Given the description of an element on the screen output the (x, y) to click on. 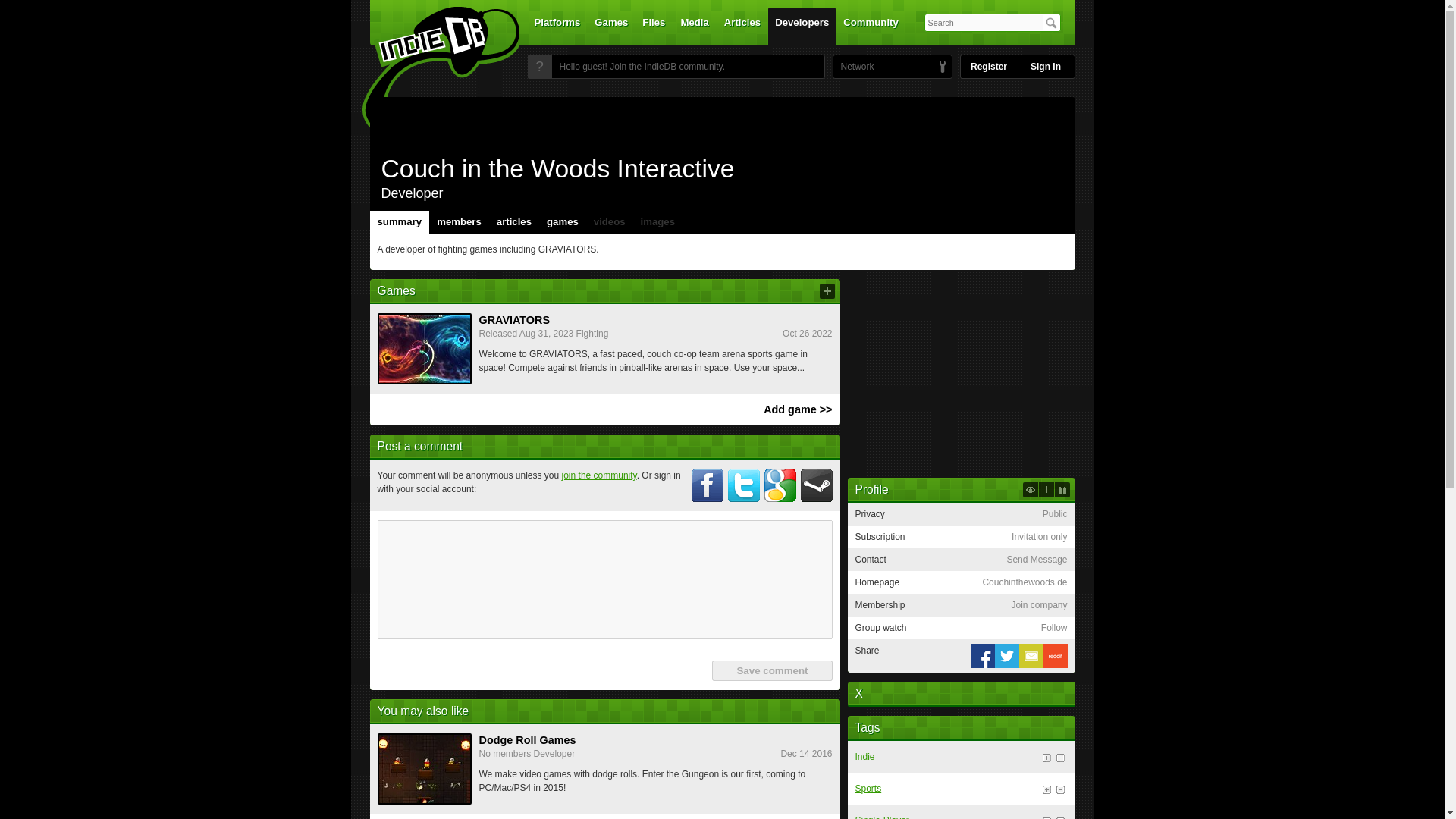
Developers (801, 26)
DBolical (852, 66)
Articles (742, 26)
Click to connect via Google (780, 485)
Platforms (557, 26)
Add game (826, 290)
Games (611, 26)
Search IndieDB (1050, 22)
Save comment (771, 670)
Media (694, 26)
Click to connect via Steam (816, 485)
Community (870, 26)
Click to connect via Twitter (744, 485)
Join IndieDB (539, 66)
Files (652, 26)
